Given the description of an element on the screen output the (x, y) to click on. 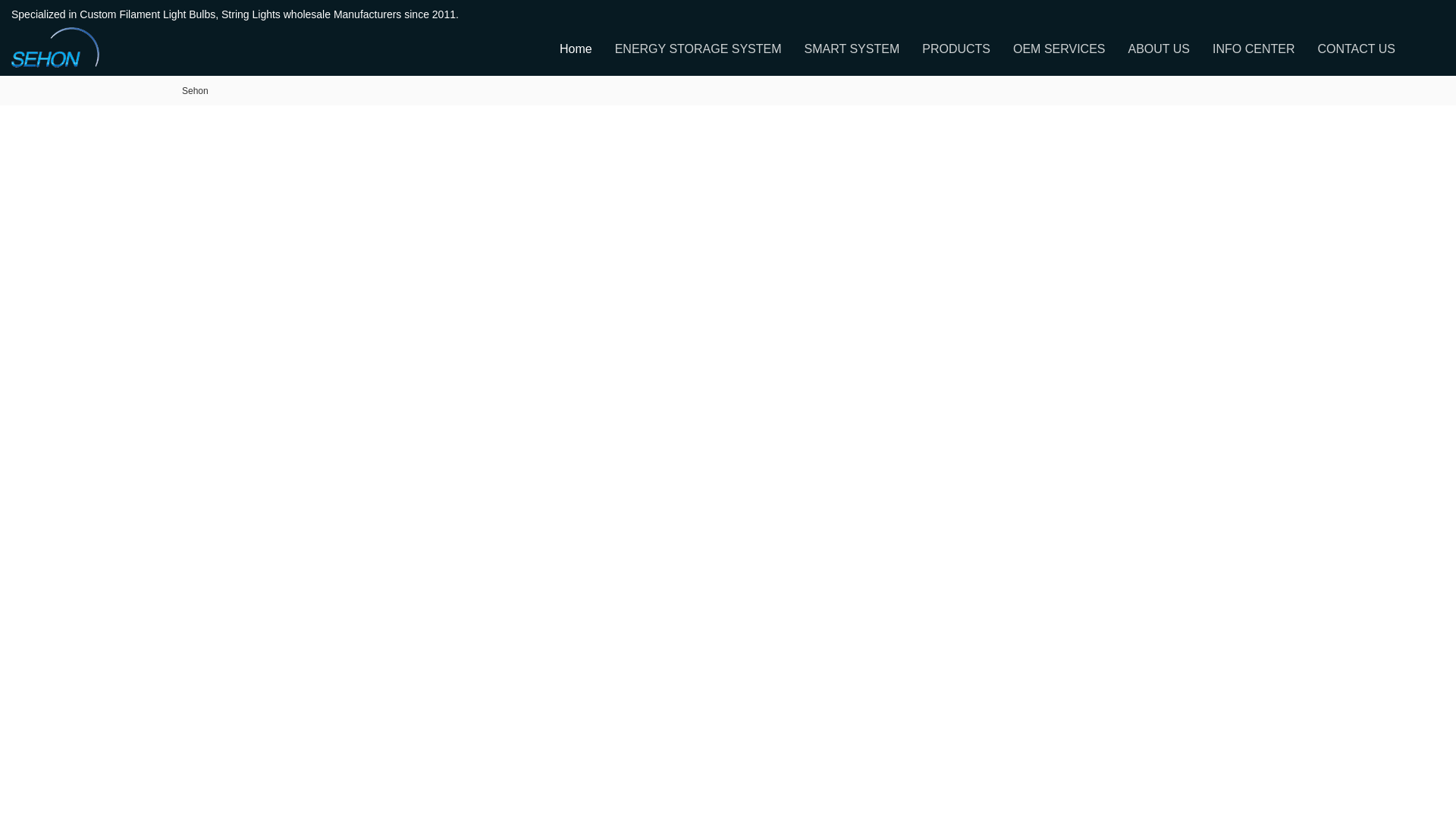
OEM SERVICES (1059, 49)
INFO CENTER (1253, 49)
Sehon (195, 90)
PRODUCTS (955, 49)
CONTACT US (1355, 49)
SMART SYSTEM (852, 49)
ENERGY STORAGE SYSTEM (697, 49)
ABOUT US (1159, 49)
